Given the description of an element on the screen output the (x, y) to click on. 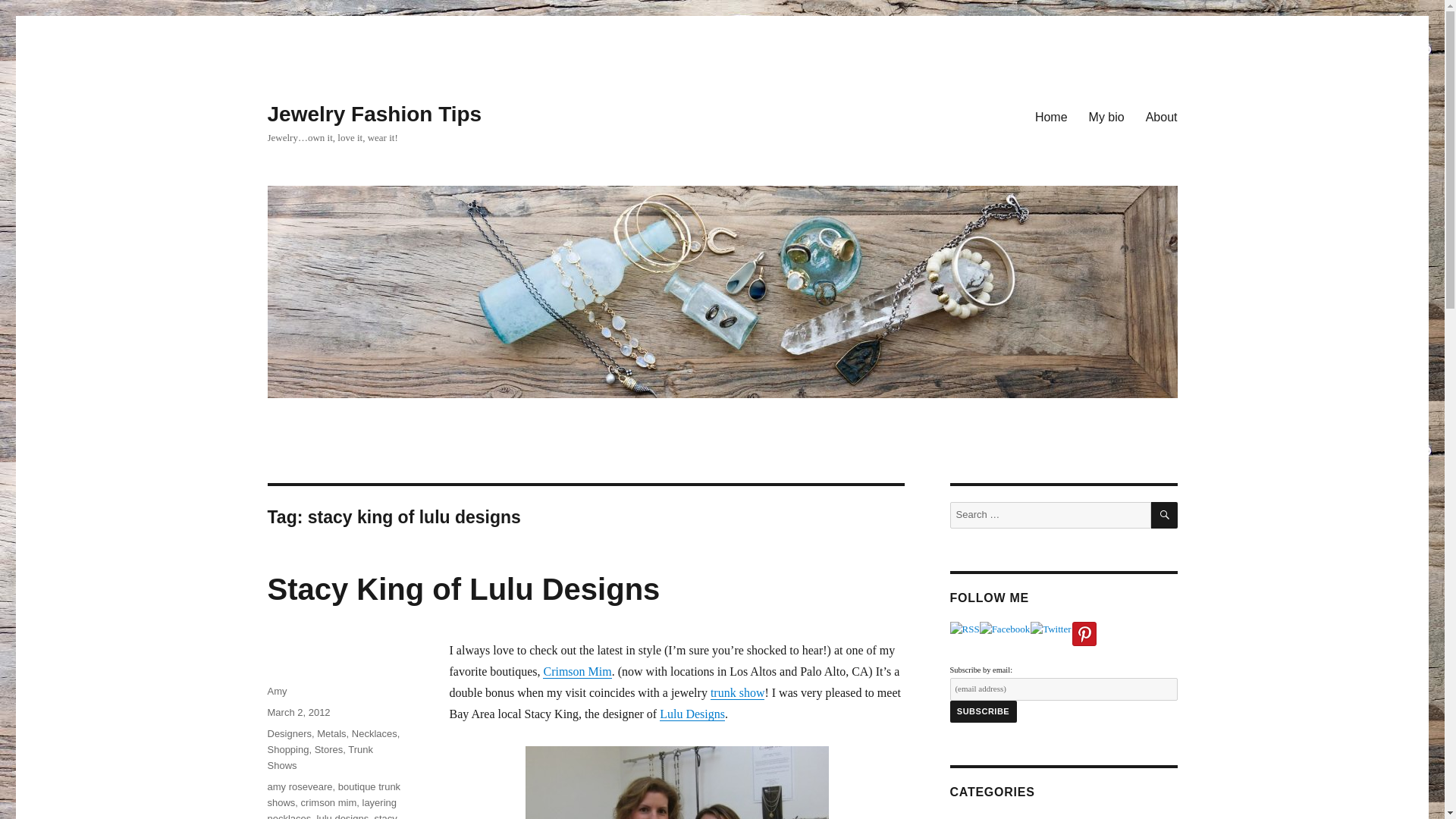
SEARCH (1164, 515)
Home (1051, 116)
Metals (331, 733)
amy roseveare (298, 786)
Jewelry Fashion Tips (373, 114)
Designers (288, 733)
March 2, 2012 (298, 712)
lulu designs (343, 816)
Shopping (287, 749)
Subscribe (982, 712)
Crimson Mim (577, 671)
Stores (328, 749)
Amy (276, 690)
My bio (1106, 116)
Stacy King of Lulu Designs (462, 589)
